Given the description of an element on the screen output the (x, y) to click on. 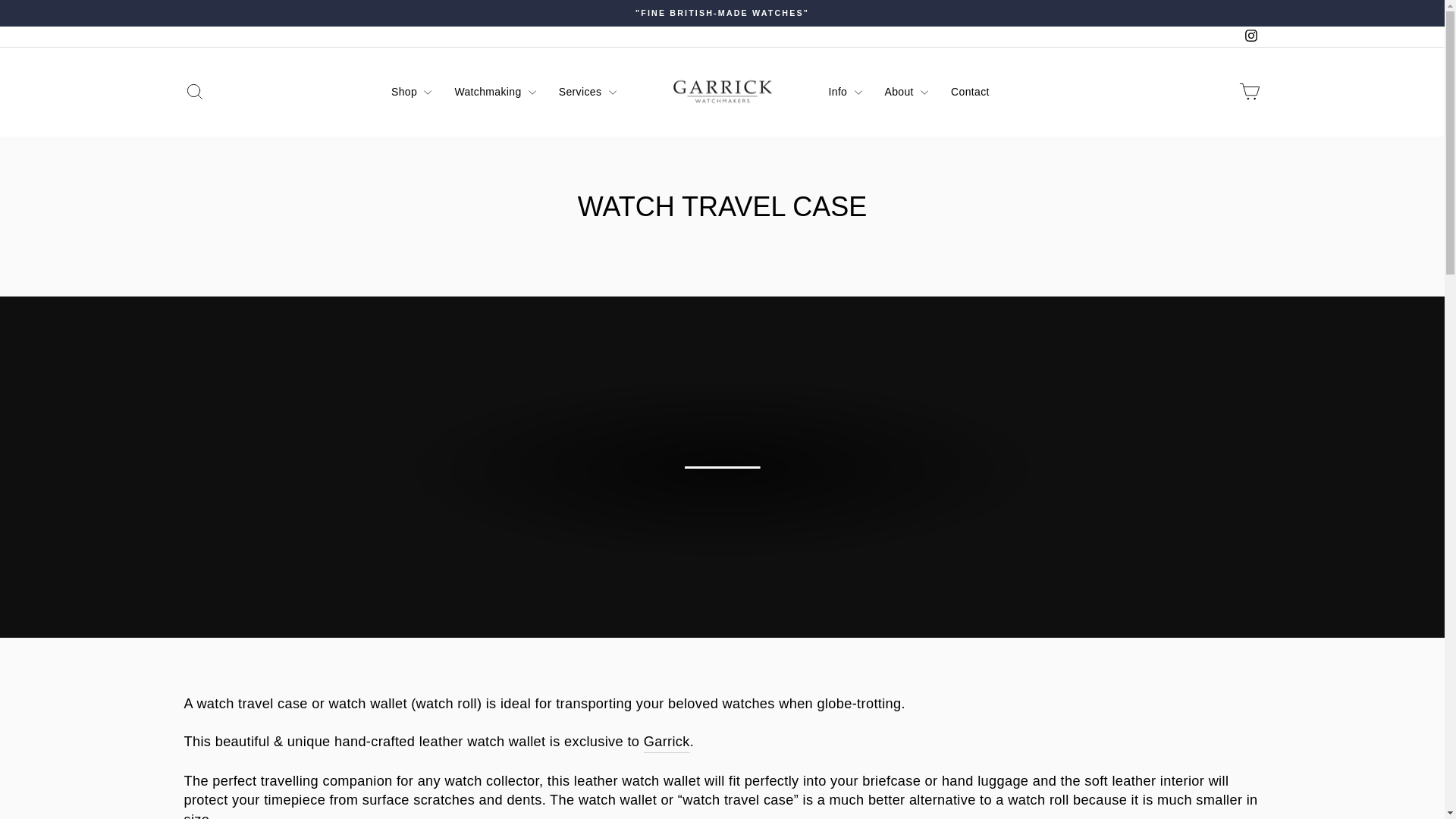
icon-search (194, 92)
instagram (1250, 36)
Garrick Watchmakers on Instagram (194, 91)
